Given the description of an element on the screen output the (x, y) to click on. 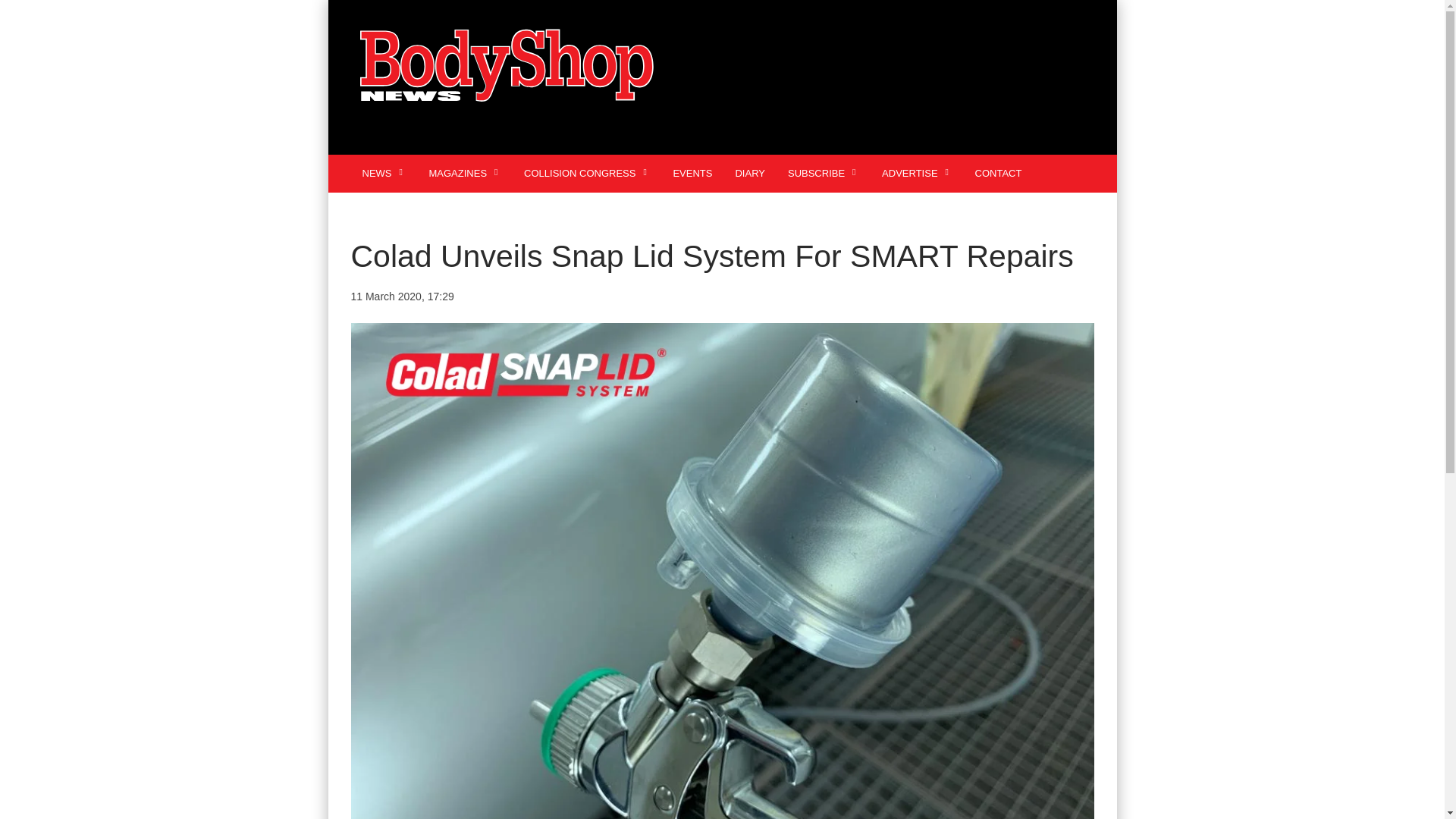
COLLISION CONGRESS (586, 173)
NEWS (383, 173)
DIARY (749, 173)
SUBSCRIBE (823, 173)
EVENTS (692, 173)
MAGAZINES (464, 173)
